Given the description of an element on the screen output the (x, y) to click on. 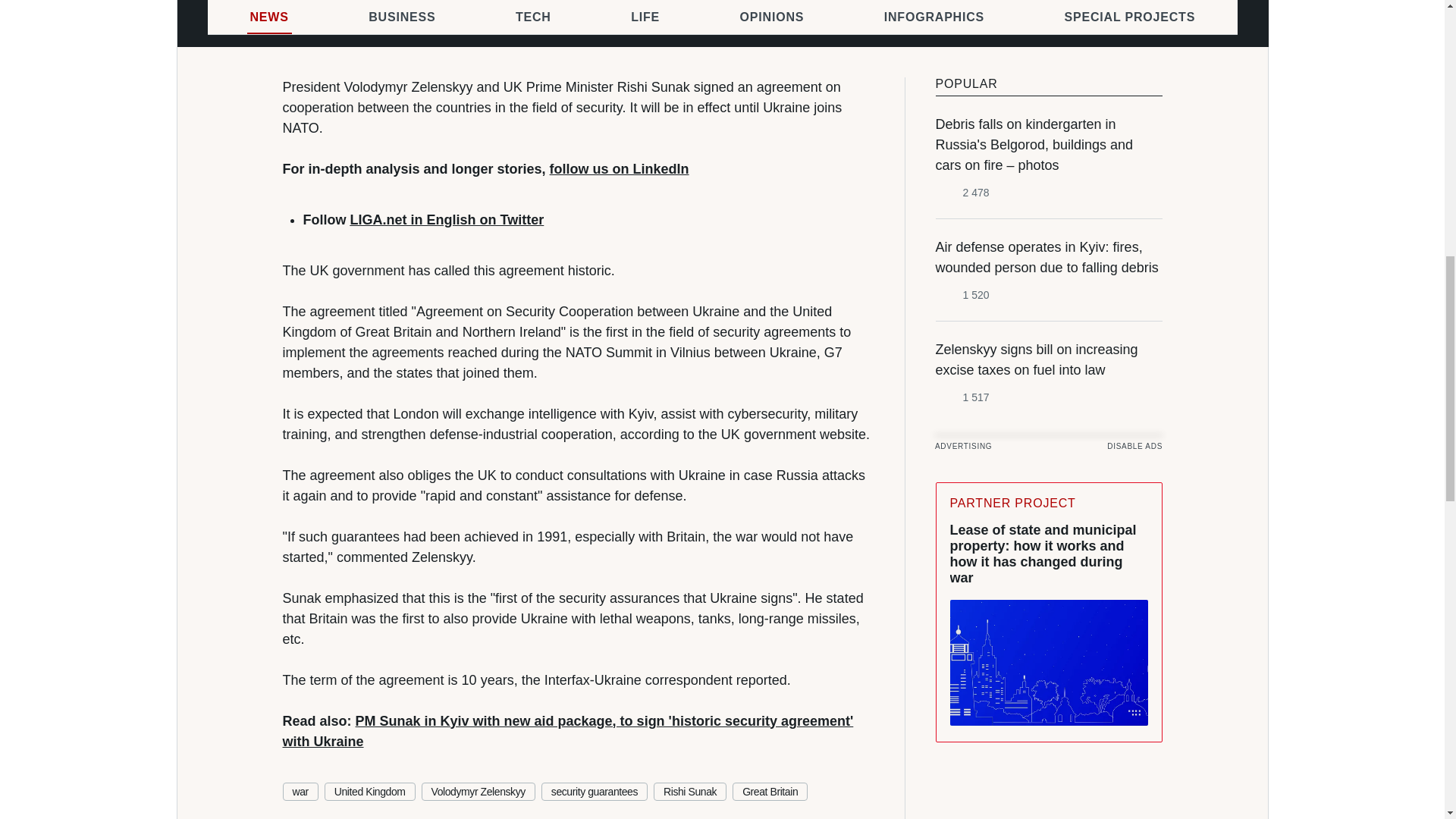
follow us on LinkedIn (619, 168)
war (299, 791)
Rishi Sunak (689, 791)
United Kingdom (369, 791)
Volodymyr Zelenskyy (478, 791)
Great Britain (770, 791)
LIGA.net in English on Twitter (447, 219)
YouTube video player (721, 14)
